Given the description of an element on the screen output the (x, y) to click on. 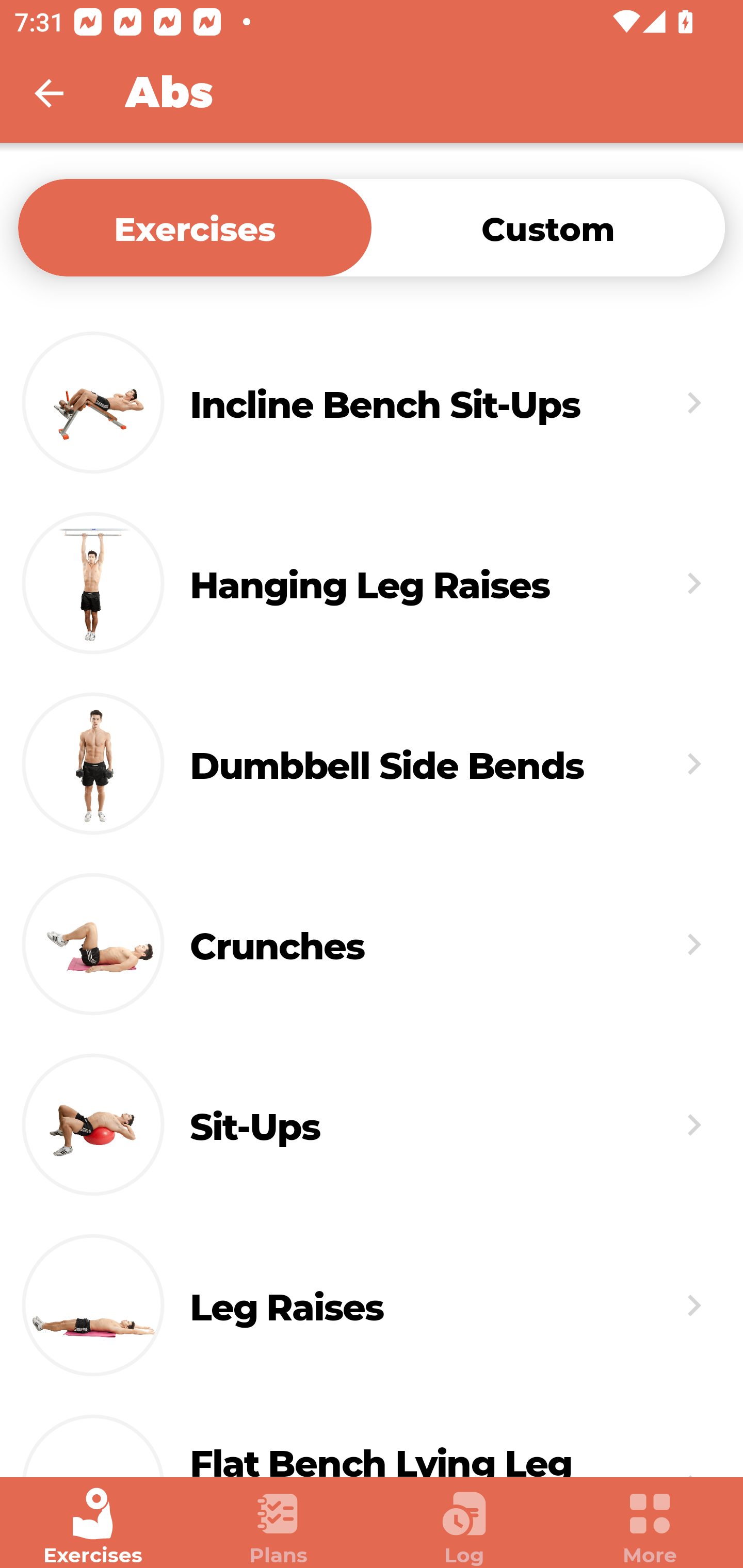
Back (62, 92)
Exercises (194, 226)
Custom (548, 226)
Exercises (92, 1527)
Plans (278, 1527)
Log (464, 1527)
More (650, 1527)
